Given the description of an element on the screen output the (x, y) to click on. 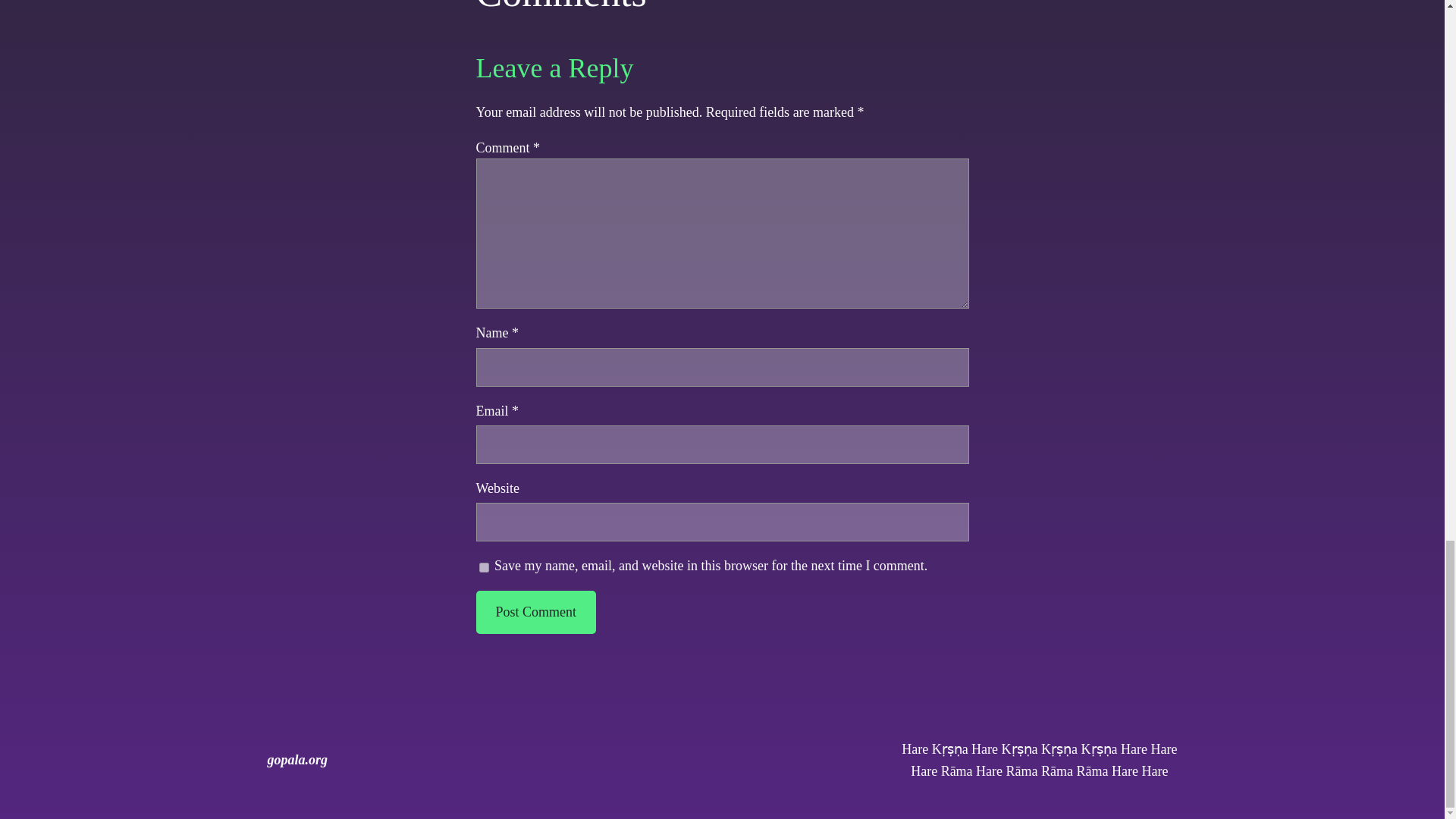
gopala.org (296, 759)
Post Comment (535, 611)
Post Comment (535, 611)
